Given the description of an element on the screen output the (x, y) to click on. 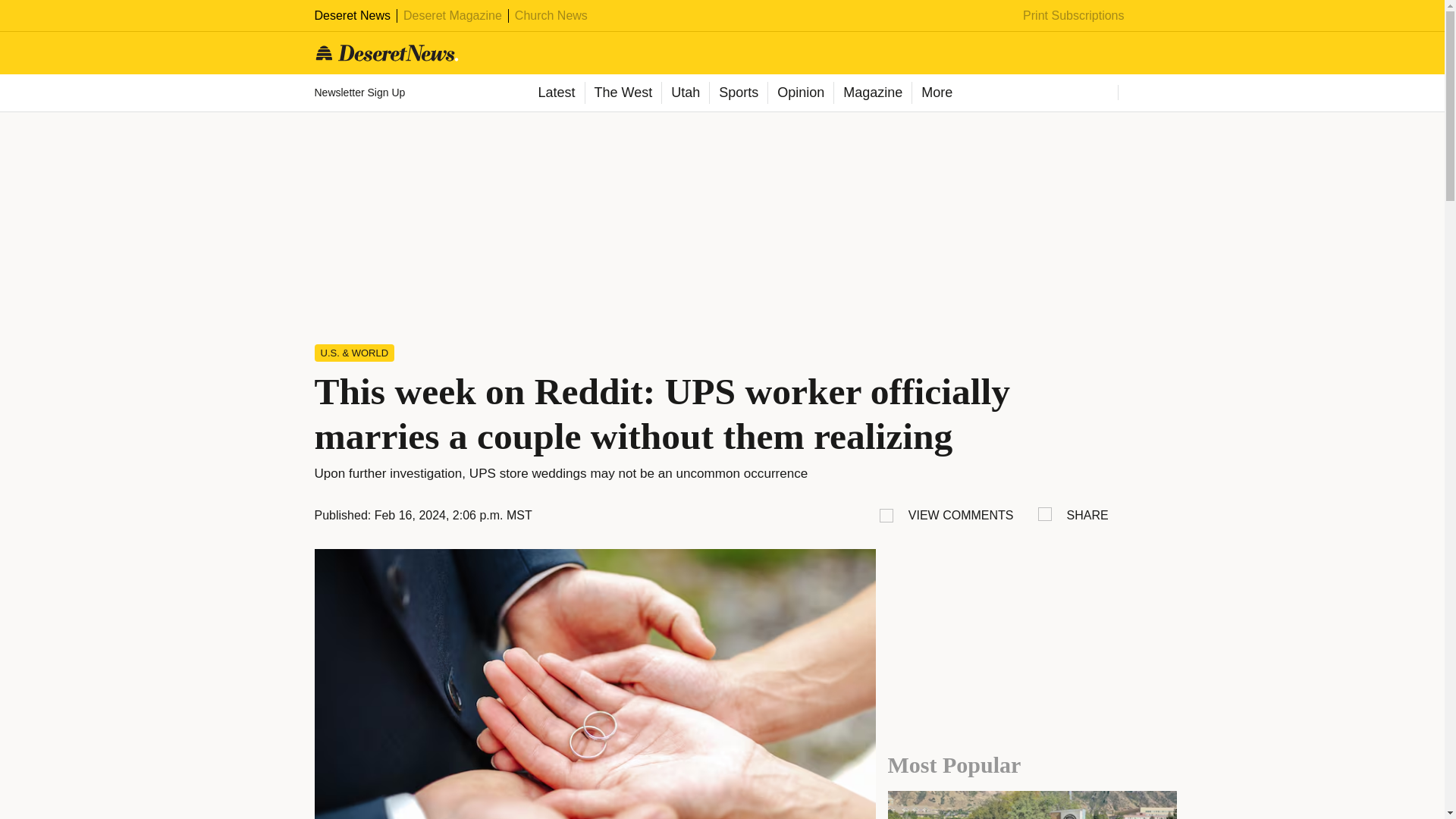
Newsletter Sign Up (361, 92)
Church News (551, 15)
Deseret News (352, 15)
Magazine (871, 92)
Opinion (799, 92)
Utah (685, 92)
Print Subscriptions (1073, 15)
Latest (555, 92)
Deseret Magazine (452, 15)
Sports (738, 92)
The West (622, 92)
